Given the description of an element on the screen output the (x, y) to click on. 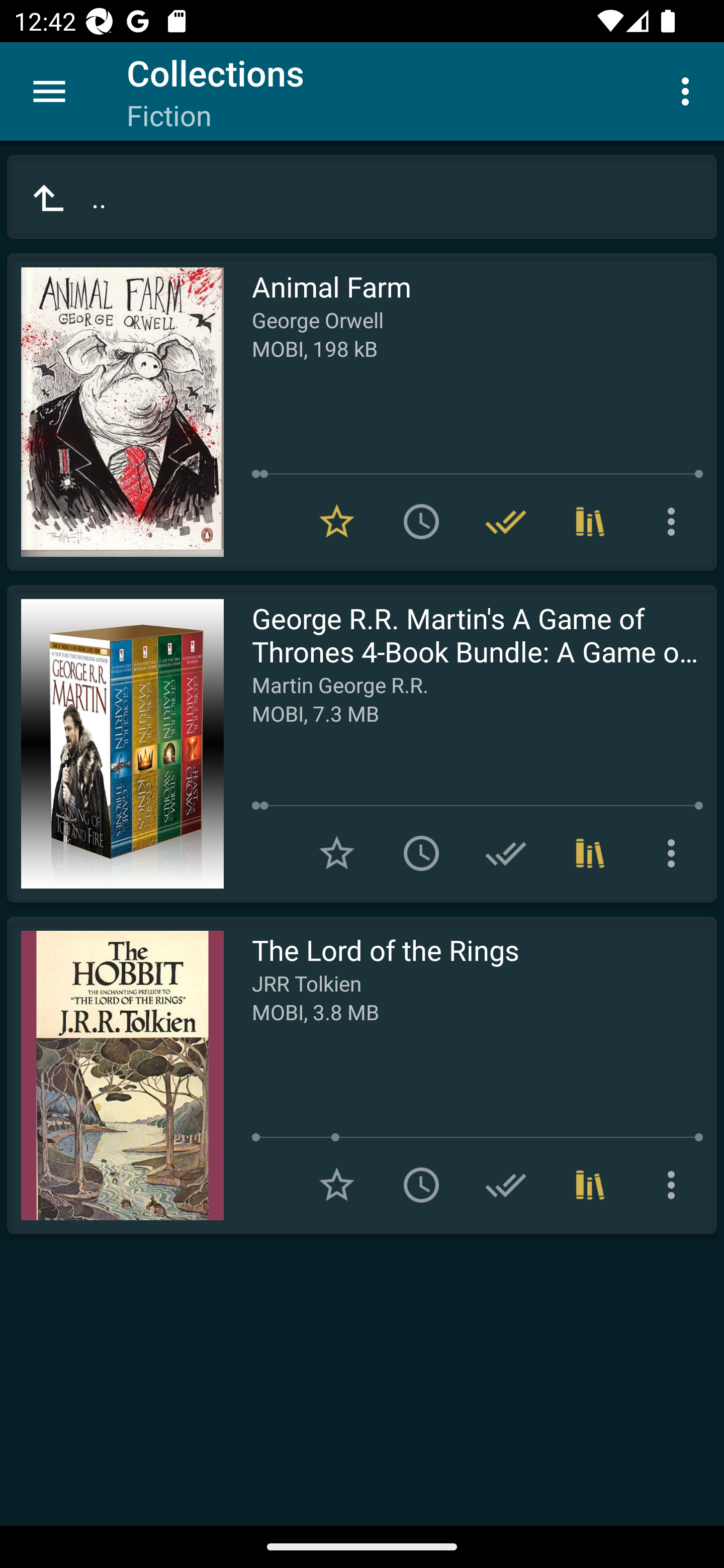
Menu (49, 91)
More options (688, 90)
.. (361, 197)
Read Animal Farm (115, 412)
Remove from Favorites (336, 521)
Add to To read (421, 521)
Remove from Have read (505, 521)
Collections (1) (590, 521)
More options (674, 521)
Add to Favorites (336, 852)
Add to To read (421, 852)
Add to Have read (505, 852)
Collections (1) (590, 852)
More options (674, 852)
Read The Lord of the Rings (115, 1075)
Add to Favorites (336, 1185)
